Given the description of an element on the screen output the (x, y) to click on. 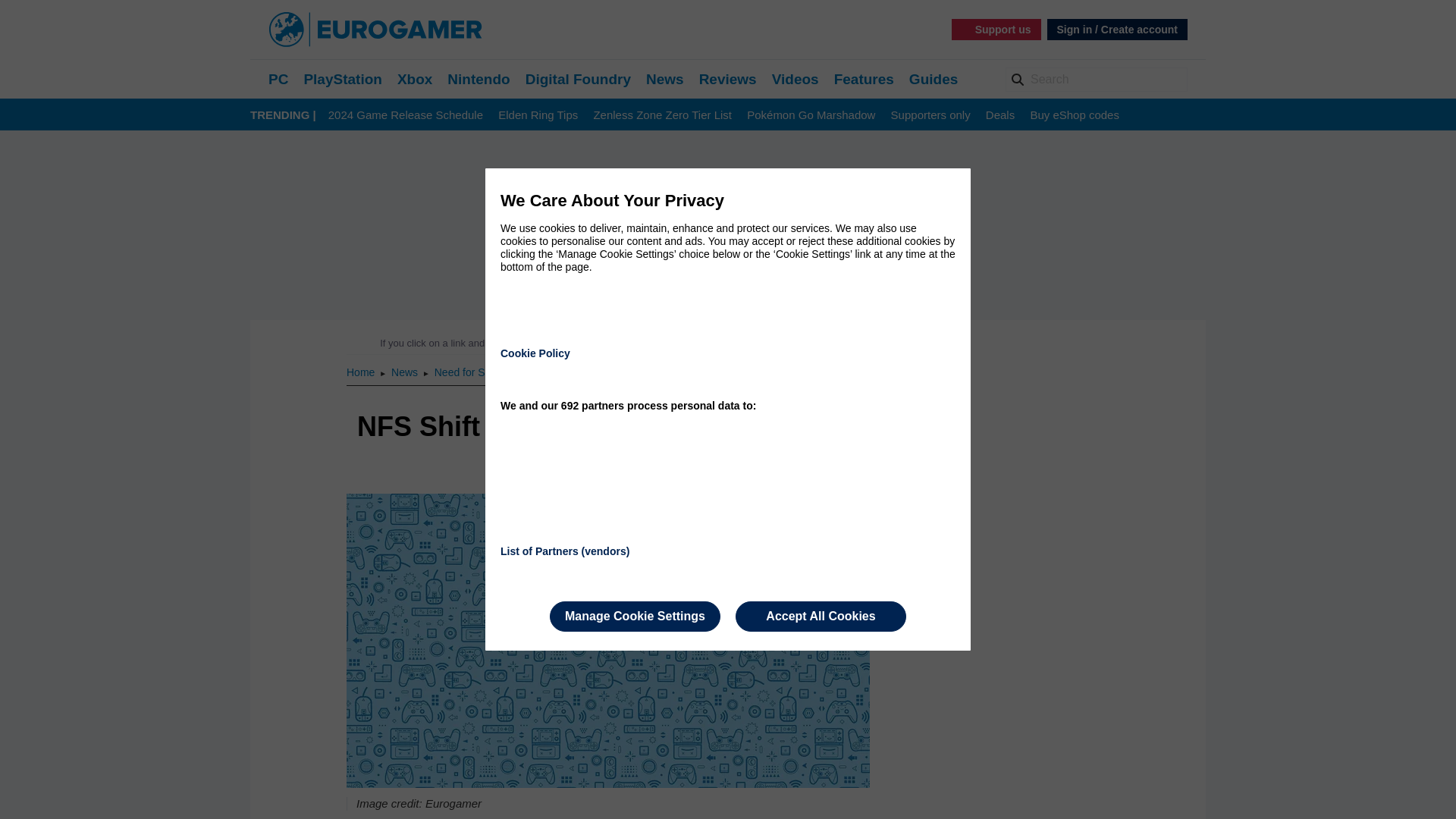
Home (361, 372)
Digital Foundry (577, 78)
Nintendo (477, 78)
Zenless Zone Zero Tier List (662, 114)
Videos (794, 78)
News (665, 78)
Support us (996, 29)
Buy eShop codes (1074, 114)
Zenless Zone Zero Tier List (662, 114)
Videos (794, 78)
Xbox (414, 78)
Supporters only (931, 114)
Supporters only (931, 114)
PlayStation (341, 78)
Need for Speed: SHIFT (488, 372)
